Given the description of an element on the screen output the (x, y) to click on. 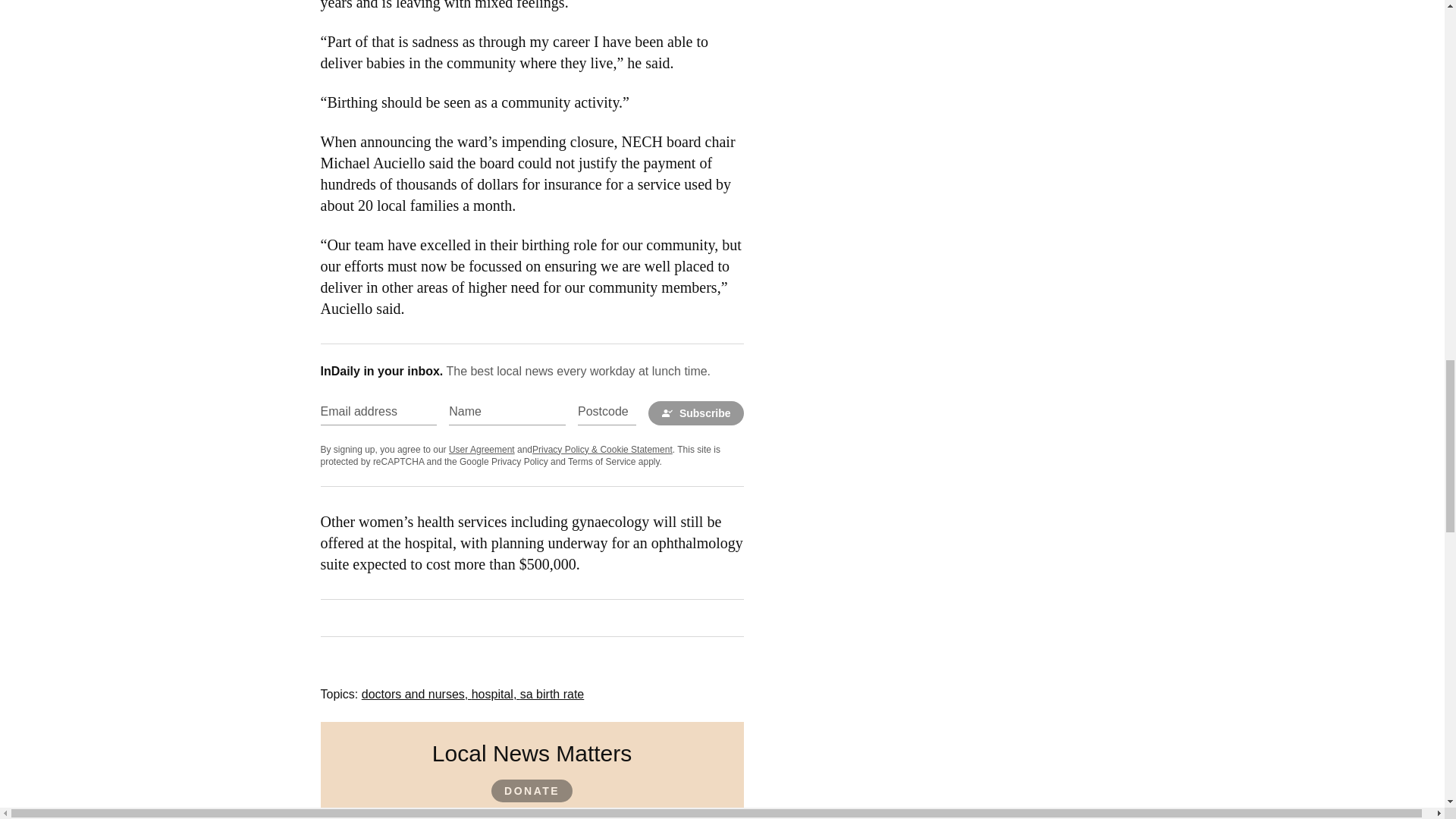
User Agreement (481, 449)
hospital, (495, 694)
sa birth rate (551, 694)
Subscribe (695, 413)
DONATE (532, 790)
doctors and nurses, (416, 694)
